Given the description of an element on the screen output the (x, y) to click on. 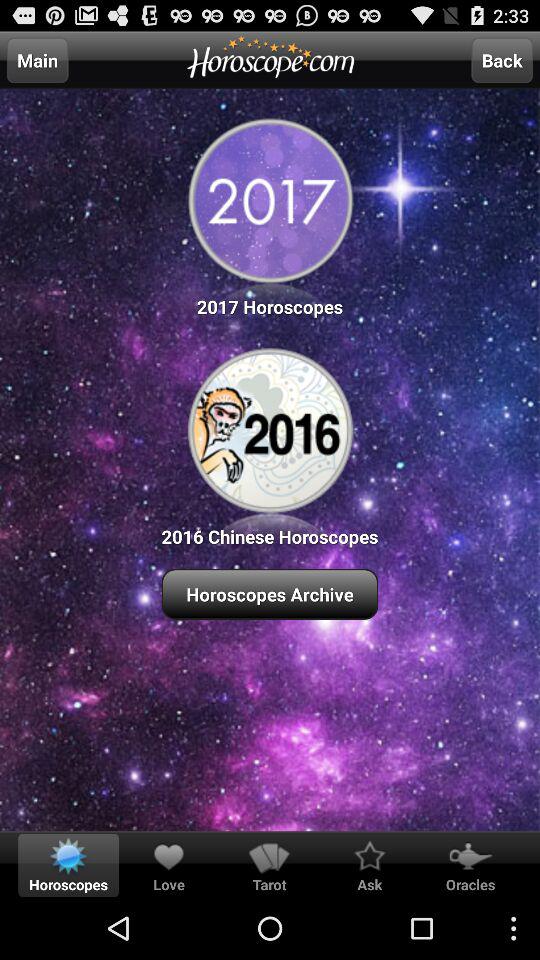
turn on 2016 chinese horoscopes item (269, 443)
